Given the description of an element on the screen output the (x, y) to click on. 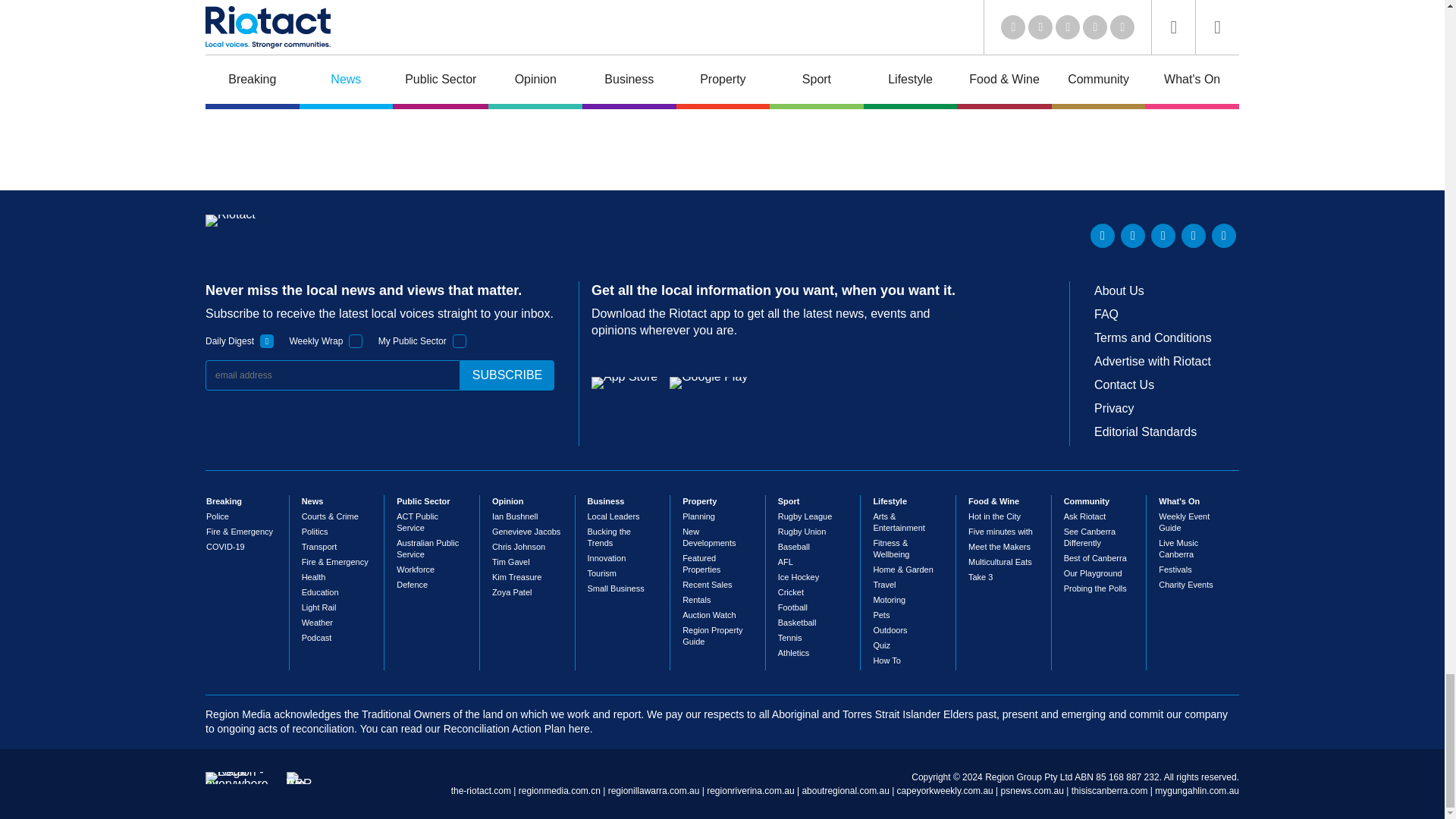
App Store (624, 382)
Facebook (1192, 235)
LinkedIn (1102, 235)
Instagram (1223, 235)
Twitter (1132, 235)
1 (458, 341)
1 (355, 341)
subscribe (507, 375)
1 (266, 341)
Youtube (1162, 235)
